Given the description of an element on the screen output the (x, y) to click on. 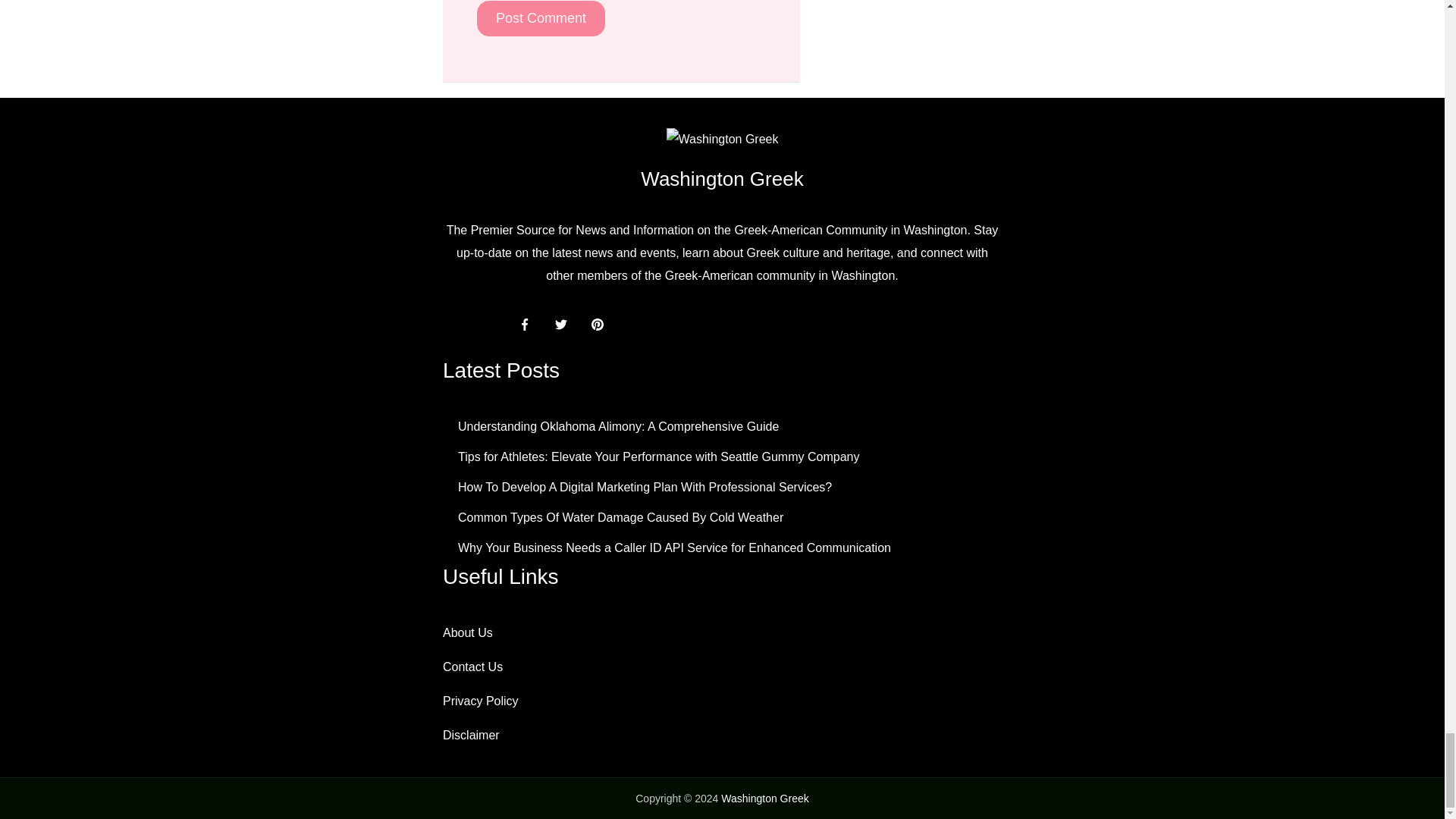
Post Comment (541, 18)
